Given the description of an element on the screen output the (x, y) to click on. 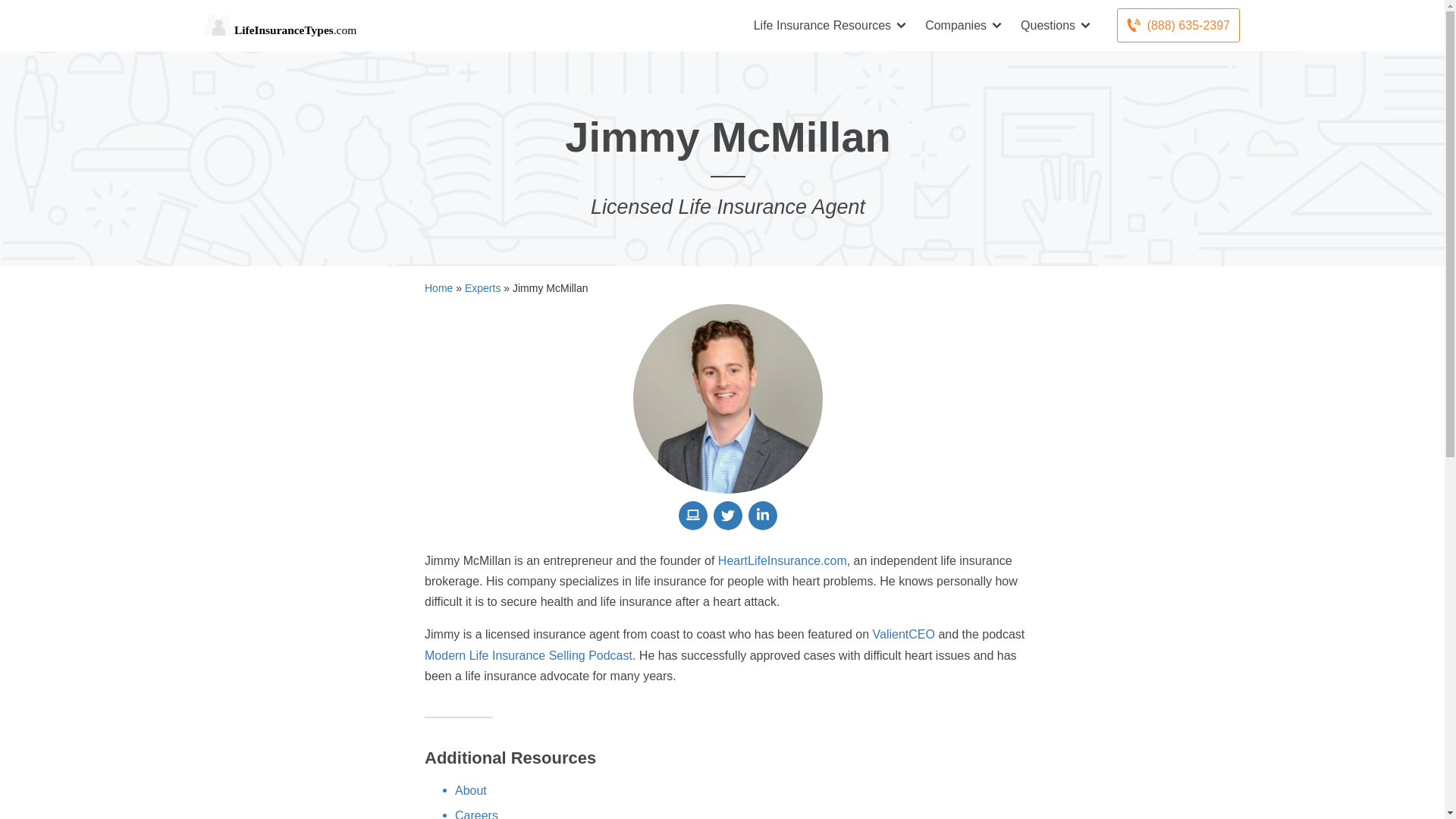
Experts (482, 287)
Home (438, 287)
Companies (965, 25)
Life Insurance Resources (831, 25)
Questions (1057, 25)
